Given the description of an element on the screen output the (x, y) to click on. 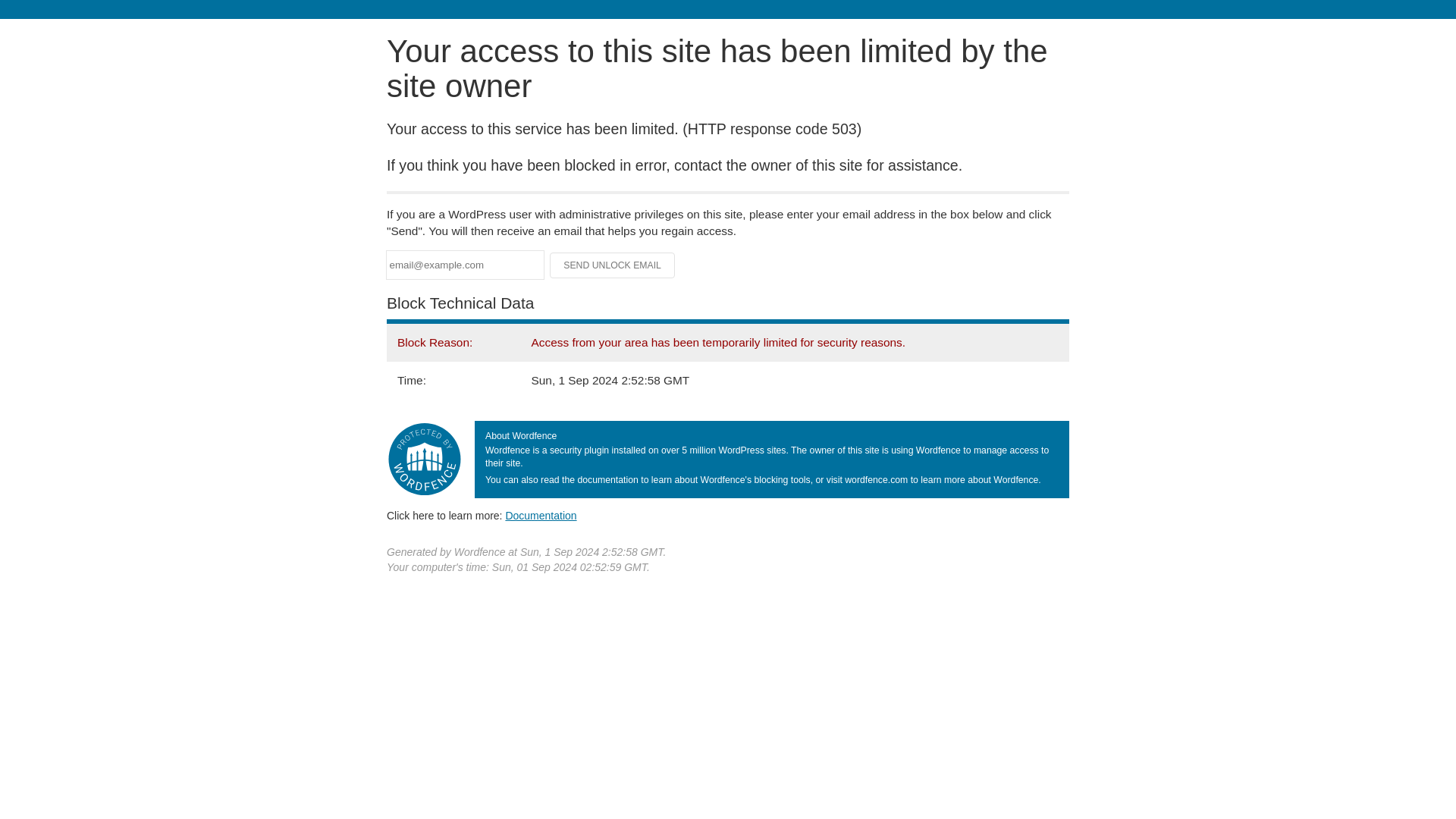
Send Unlock Email (612, 265)
Send Unlock Email (612, 265)
Documentation (540, 515)
